Given the description of an element on the screen output the (x, y) to click on. 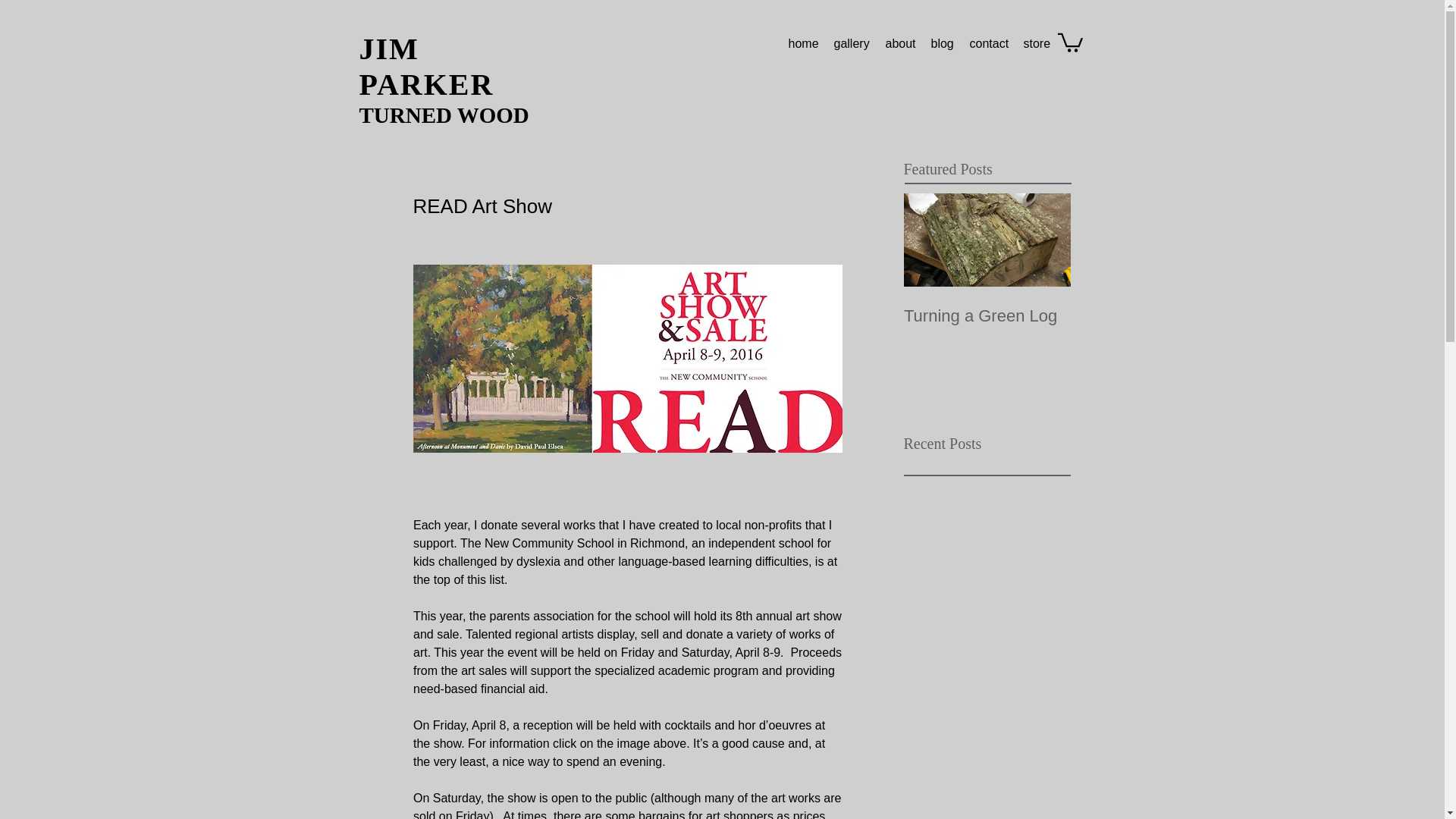
gallery (852, 43)
about (900, 43)
store (1037, 43)
JIM PARKER (427, 66)
contact (987, 43)
TURNED WOOD (444, 115)
blog (942, 43)
Turning a Green Log (987, 315)
home (803, 43)
